Given the description of an element on the screen output the (x, y) to click on. 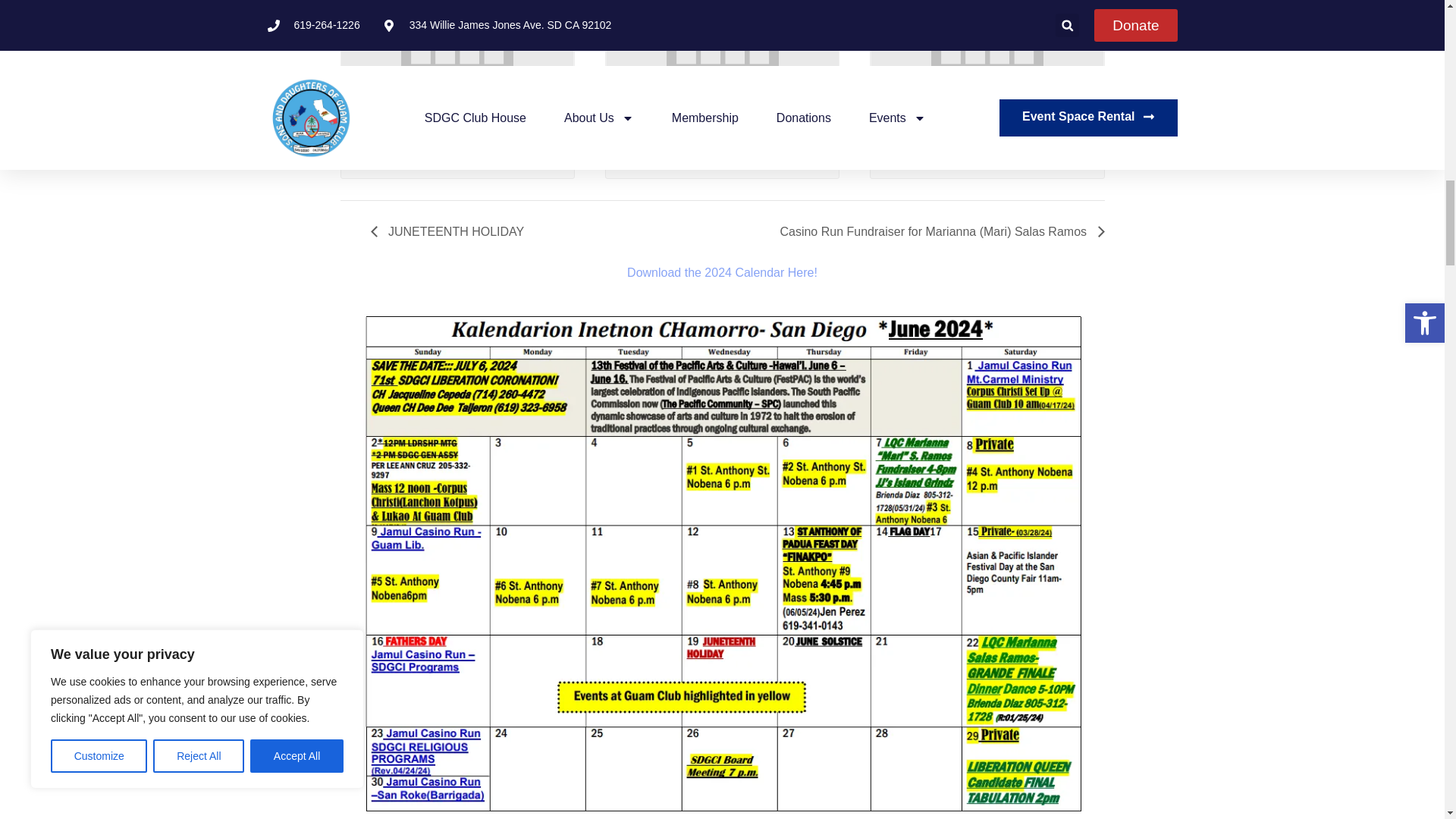
Download the 2024 Calendar here! (721, 272)
